Given the description of an element on the screen output the (x, y) to click on. 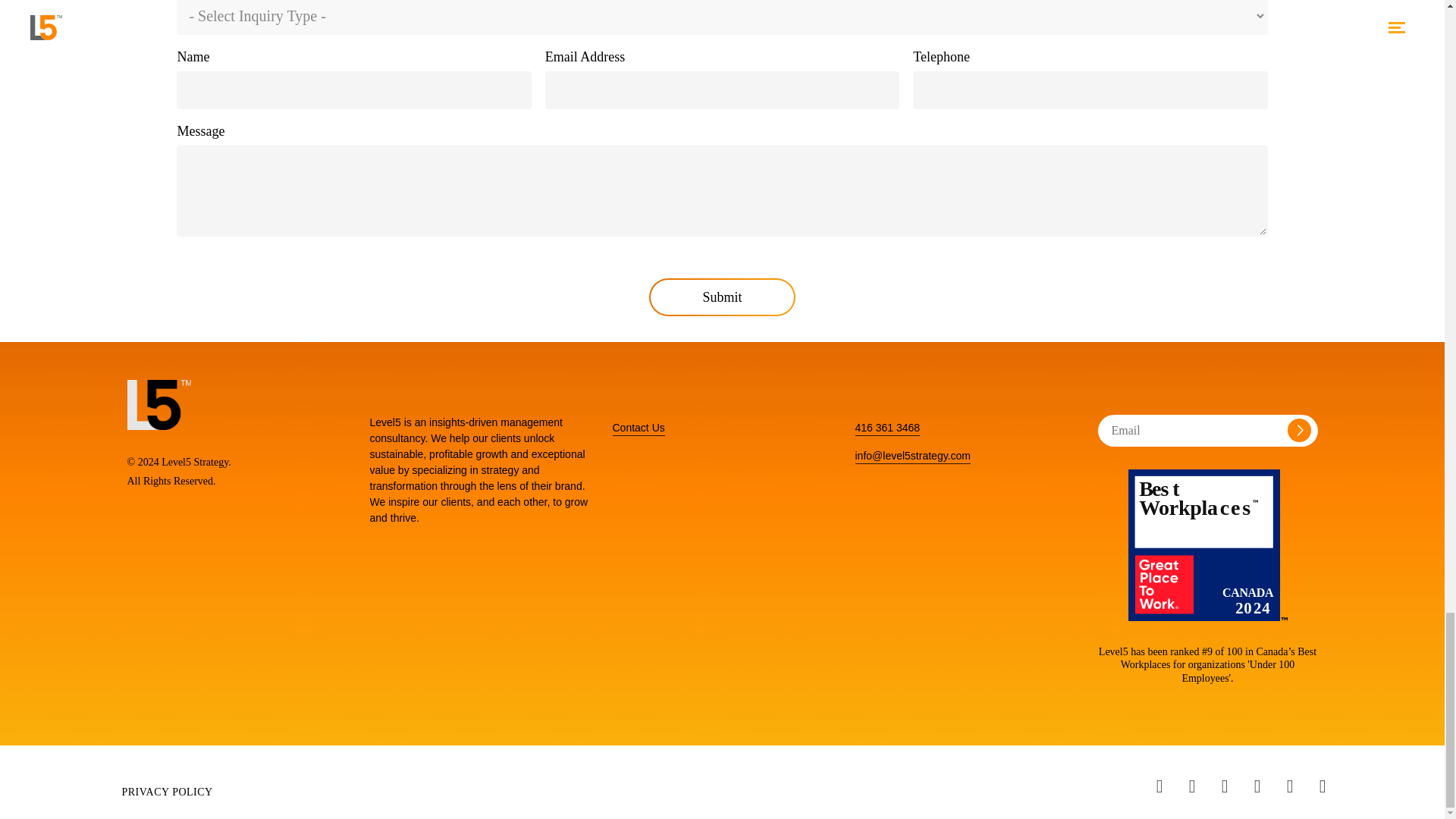
416 361 3468 (888, 427)
Submit (721, 297)
PRIVACY POLICY (166, 791)
Submit (721, 297)
Contact Us (638, 427)
